Given the description of an element on the screen output the (x, y) to click on. 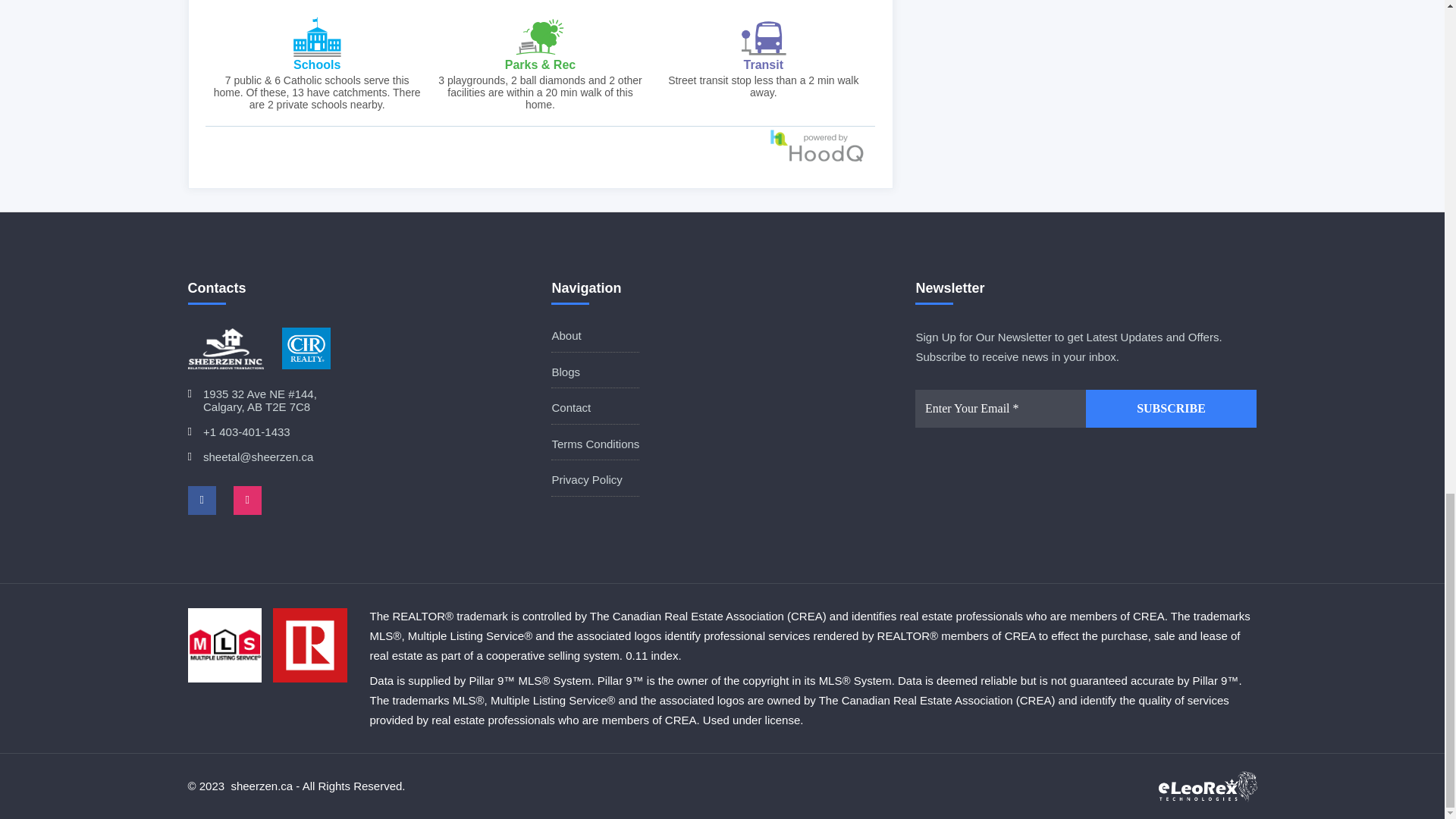
eLeoRex Technologies (1207, 786)
Enter Your Email (1000, 408)
SUBSCRIBE (1171, 408)
